Given the description of an element on the screen output the (x, y) to click on. 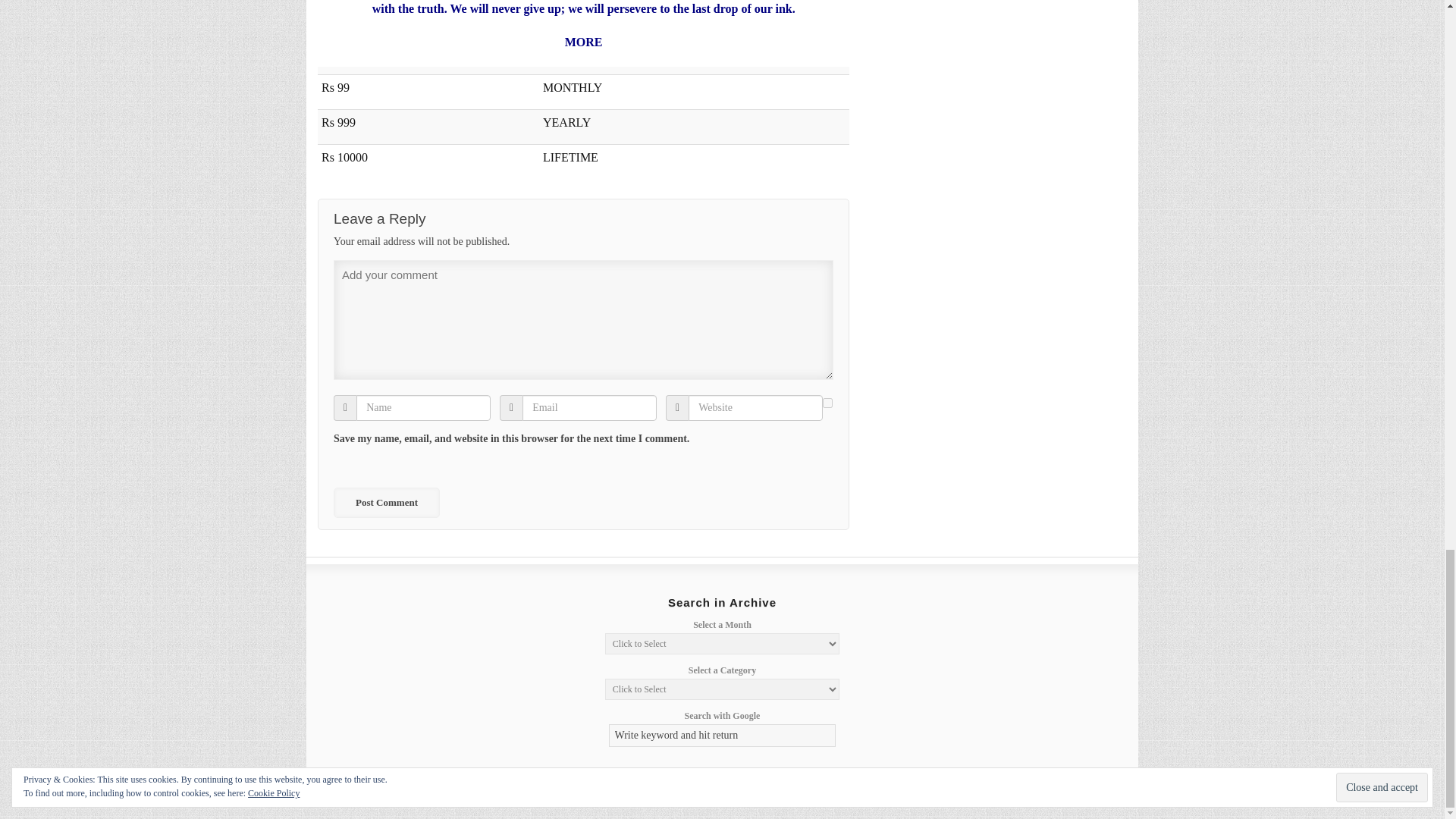
Semantic Personal Publishing Platform (1017, 790)
Kashmir Reader (381, 790)
Post Comment (386, 502)
WordPress Newspaper Themes (1097, 790)
yes (827, 402)
Write keyword and hit return (721, 734)
